Given the description of an element on the screen output the (x, y) to click on. 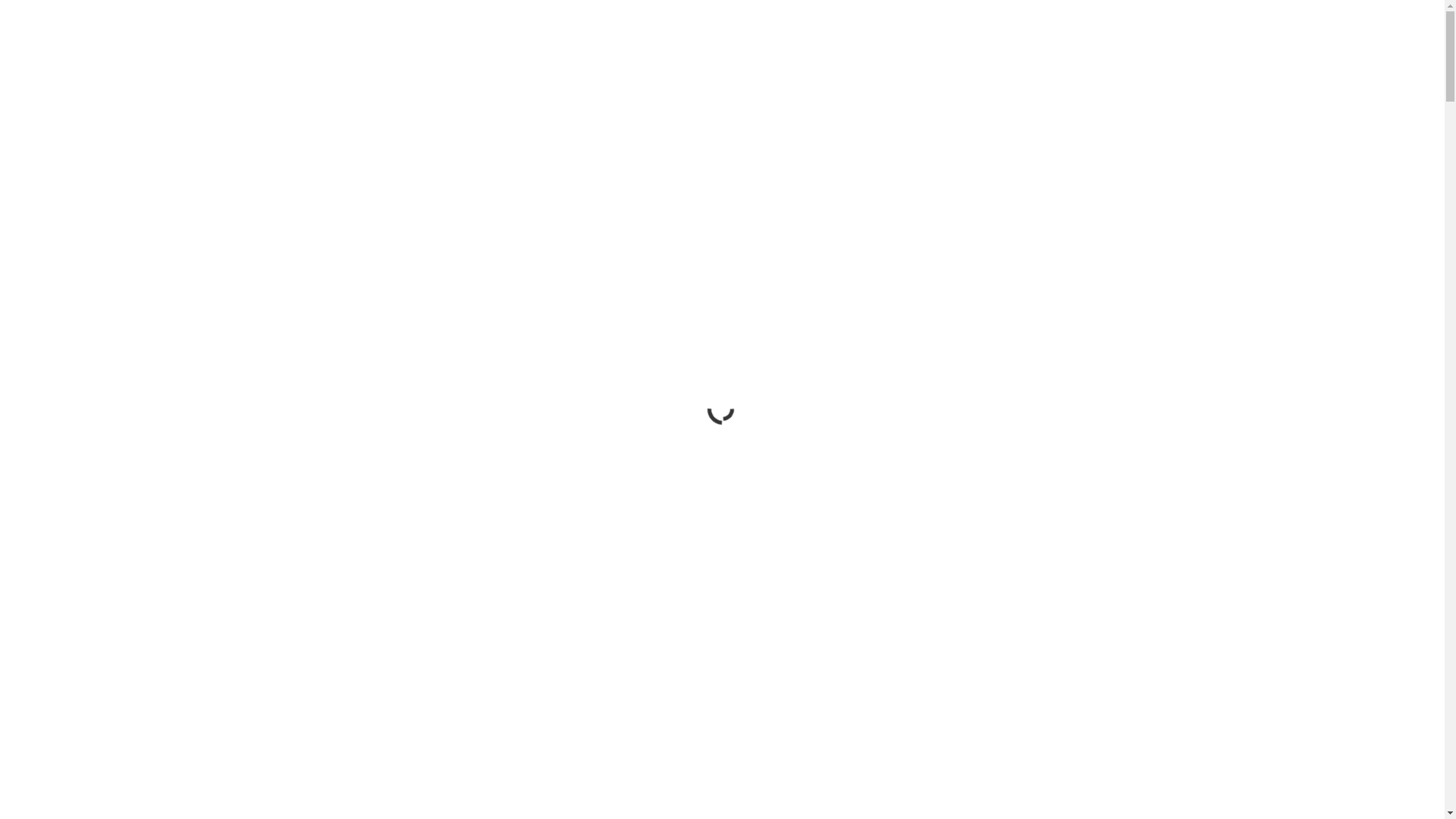
Market Update: COVID Safe Element type: text (604, 444)
ABOUT Element type: text (1273, 48)
Market Update: Bayside Waste & Recycling Centre Element type: text (1081, 639)
Privacy Policy Element type: text (1160, 789)
METAL RECYCLING Element type: text (840, 48)
WASTE TRANSFER Element type: text (969, 48)
Hallam gets a state-of-the-art new tip Element type: text (1074, 745)
New lease and new life for Bayside Waste & Recycling Centre Element type: text (1080, 692)
Scrap Metal Recycling: COVID Safe Update Sep 2020 Element type: hover (604, 637)
Market Update: Bayside Waste & Recycling Centre Element type: text (1070, 623)
CONTACT Element type: text (1349, 48)
RESOURCE RECOVERY Element type: text (701, 48)
Search Element type: text (1153, 428)
SUSTAINABILITY Element type: text (1180, 48)
Search Element type: text (1384, 112)
Market Update: Hallam Depot Element type: text (1074, 785)
FACILITIES Element type: text (1078, 48)
New lease and new life for Bayside Waste & Recycling Centre Element type: text (1073, 669)
